Given the description of an element on the screen output the (x, y) to click on. 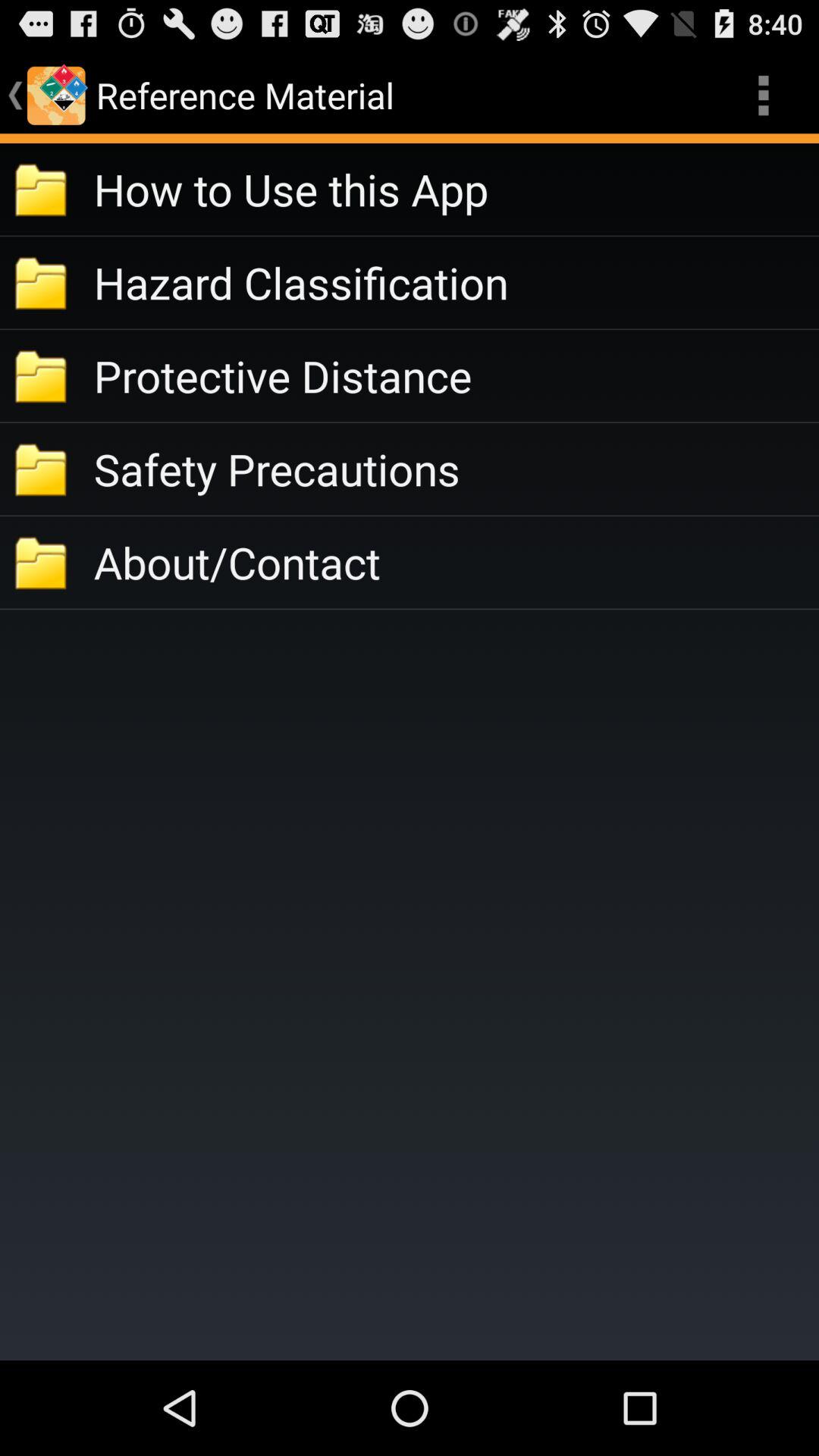
tap the item at the center (456, 562)
